Given the description of an element on the screen output the (x, y) to click on. 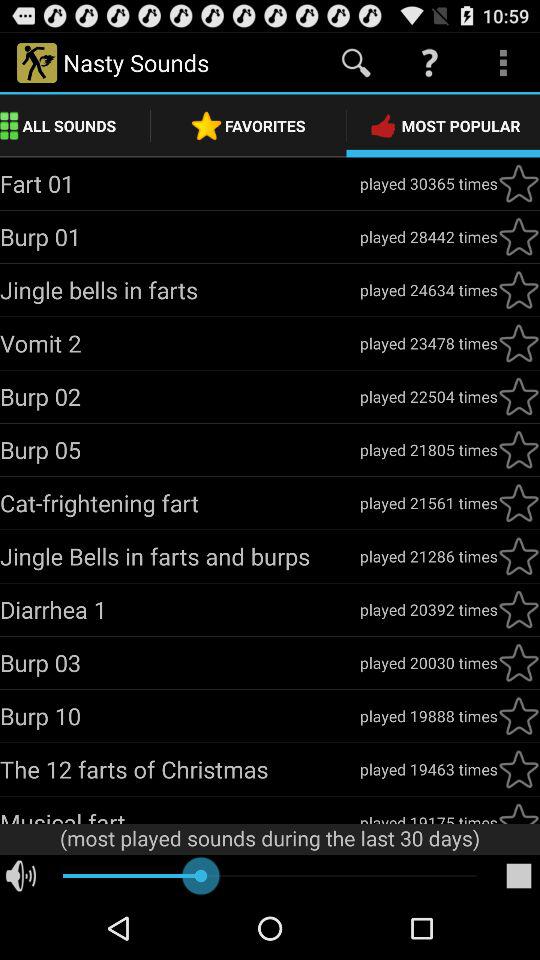
click icon above most played sounds (428, 817)
